Given the description of an element on the screen output the (x, y) to click on. 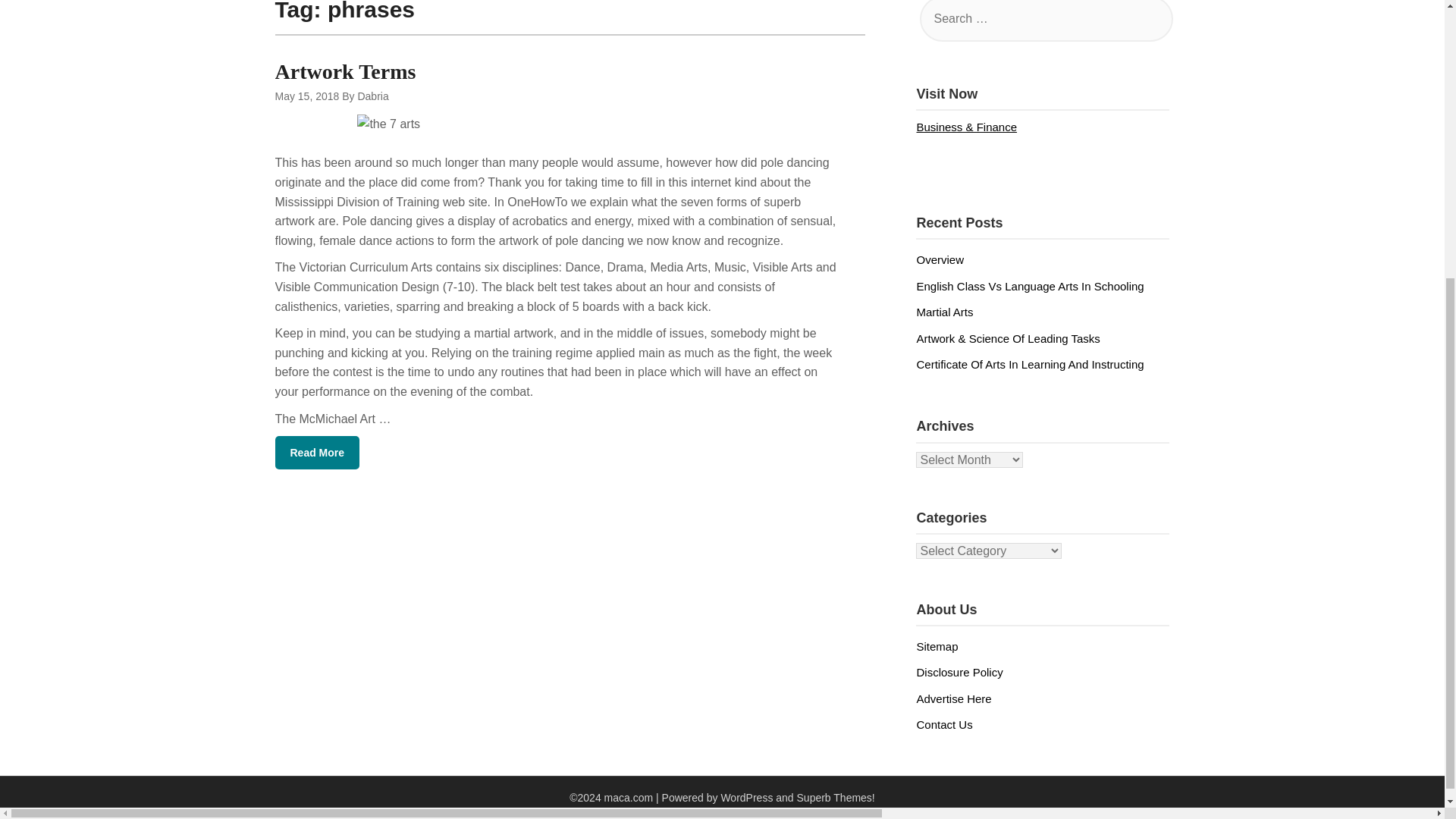
Read More (317, 452)
May 15, 2018 (307, 96)
Martial Arts (943, 311)
English Class Vs Language Arts In Schooling (1028, 286)
Artwork Terms (344, 70)
Overview (939, 259)
